Given the description of an element on the screen output the (x, y) to click on. 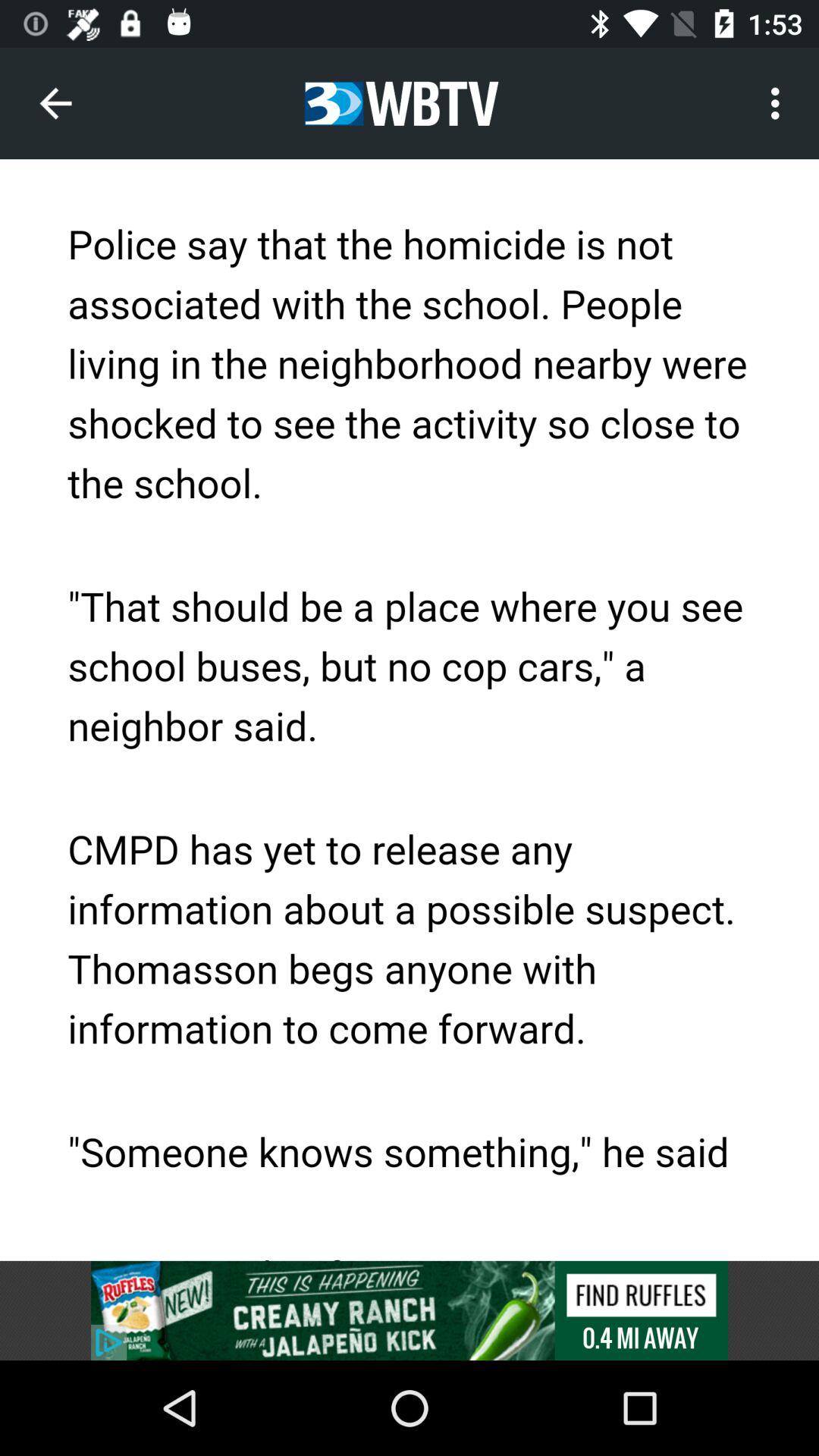
know about the advertisement (409, 1310)
